Given the description of an element on the screen output the (x, y) to click on. 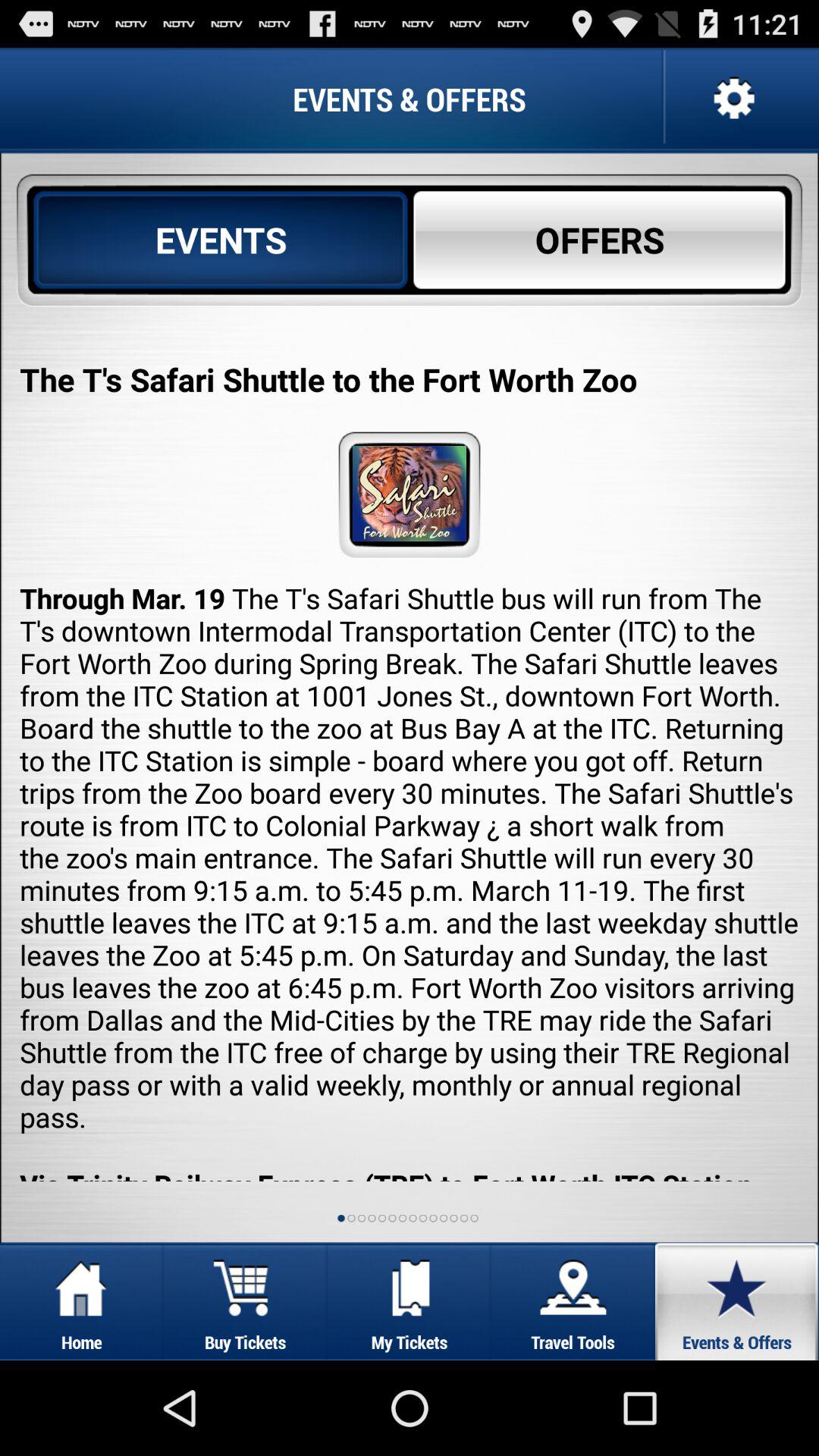
settings (732, 99)
